Given the description of an element on the screen output the (x, y) to click on. 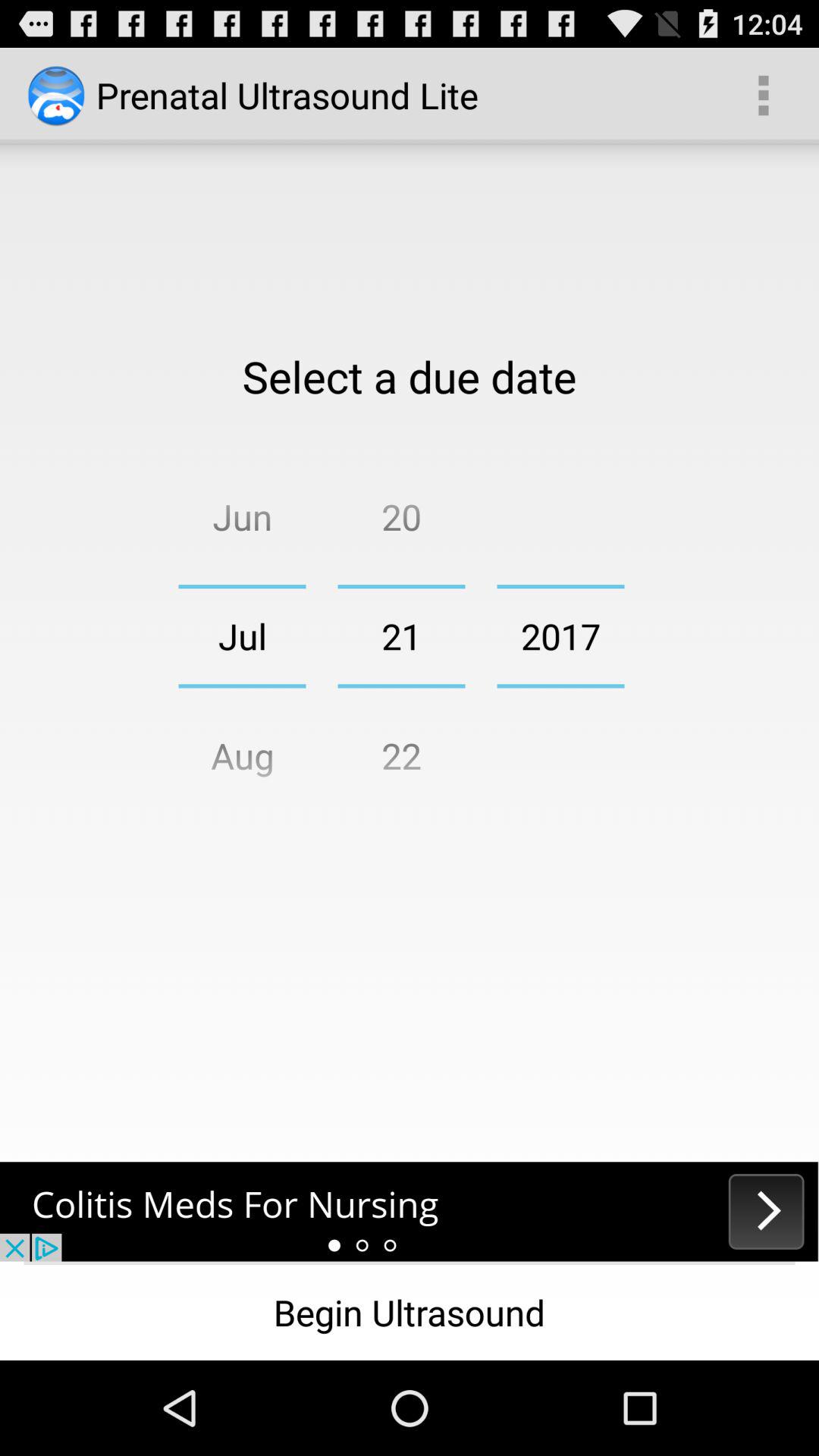
click arrow button (409, 1211)
